Given the description of an element on the screen output the (x, y) to click on. 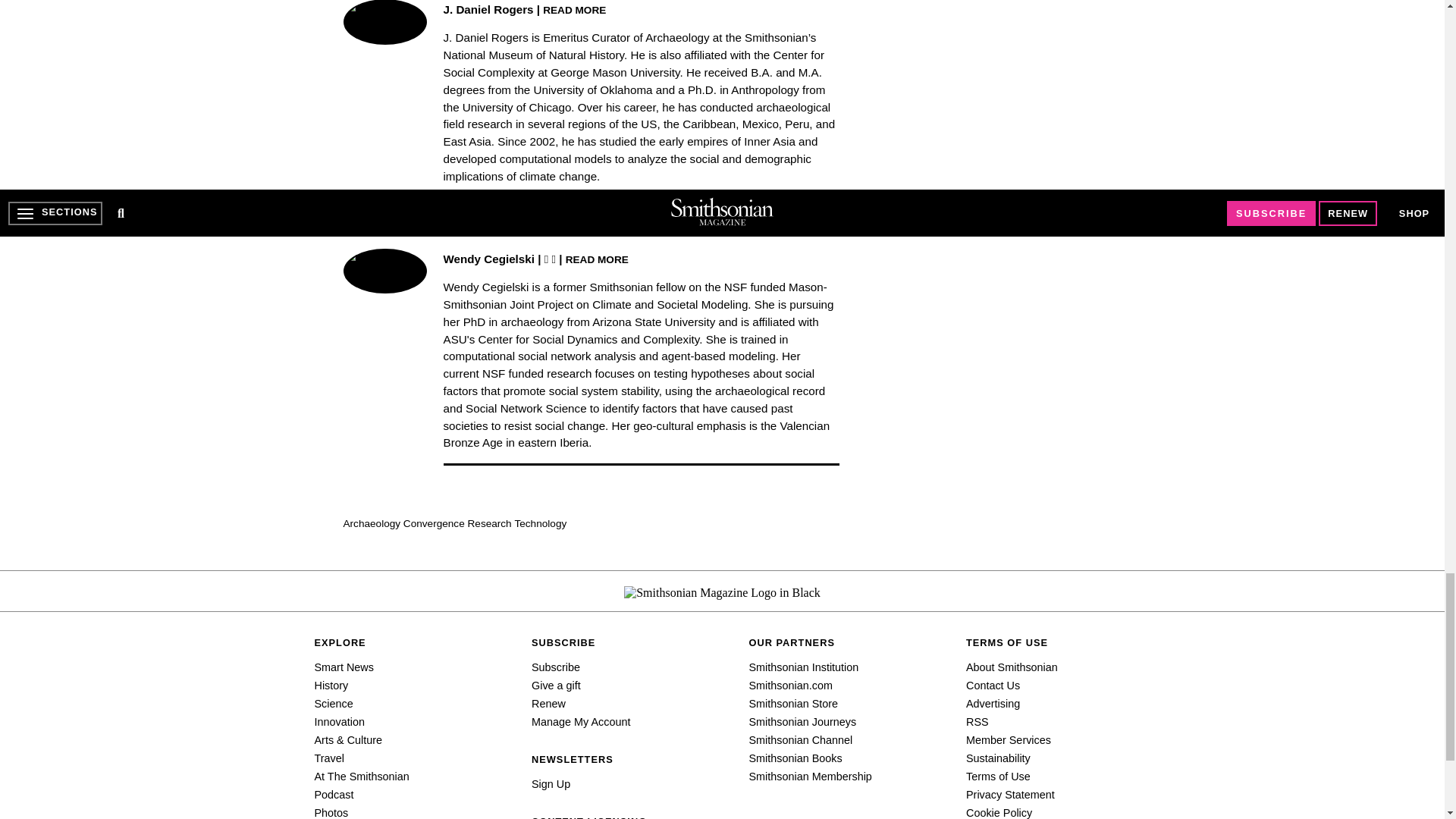
Read more from this author (597, 258)
Read more from this author (574, 9)
